Given the description of an element on the screen output the (x, y) to click on. 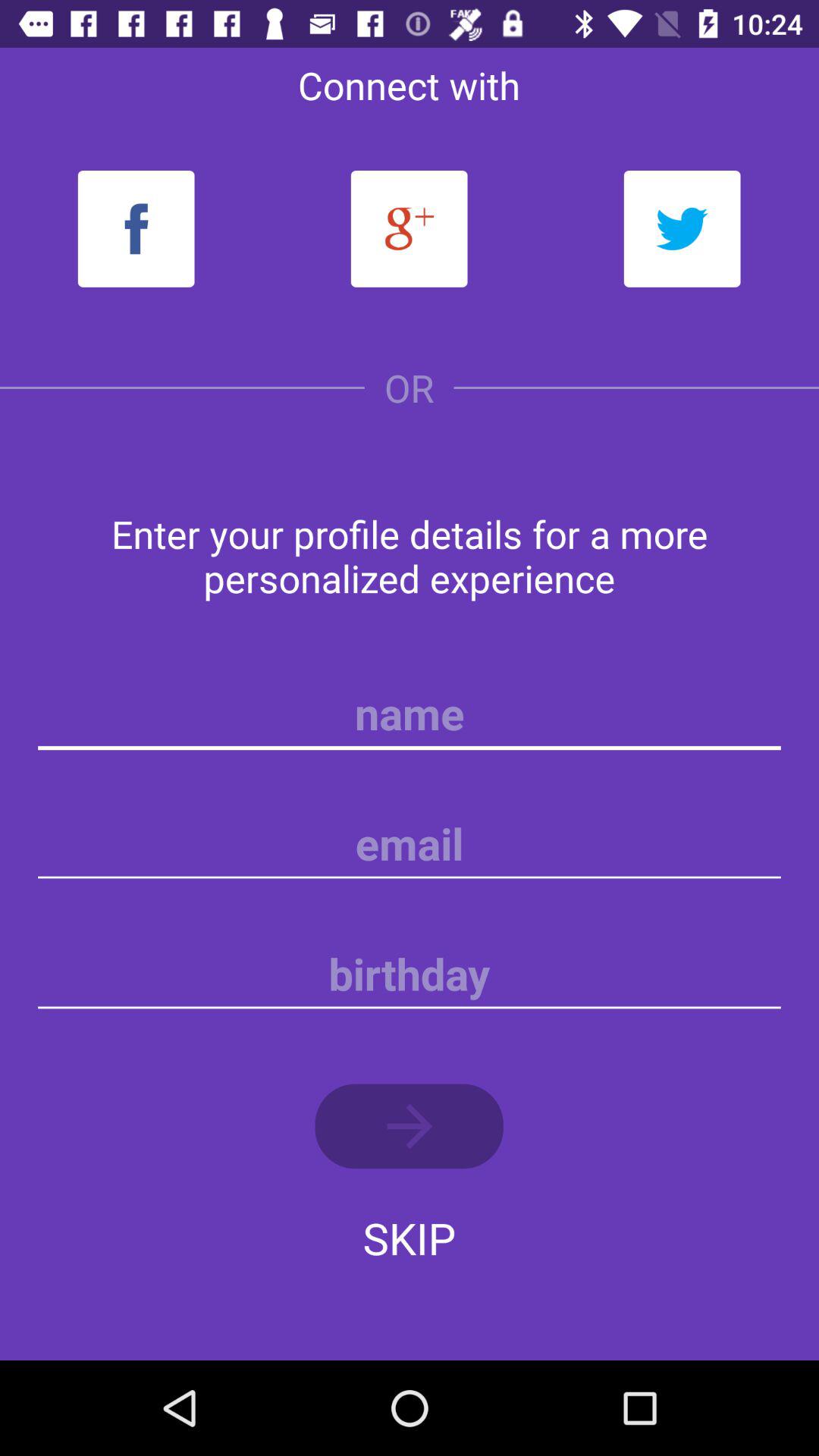
enter name (409, 713)
